Given the description of an element on the screen output the (x, y) to click on. 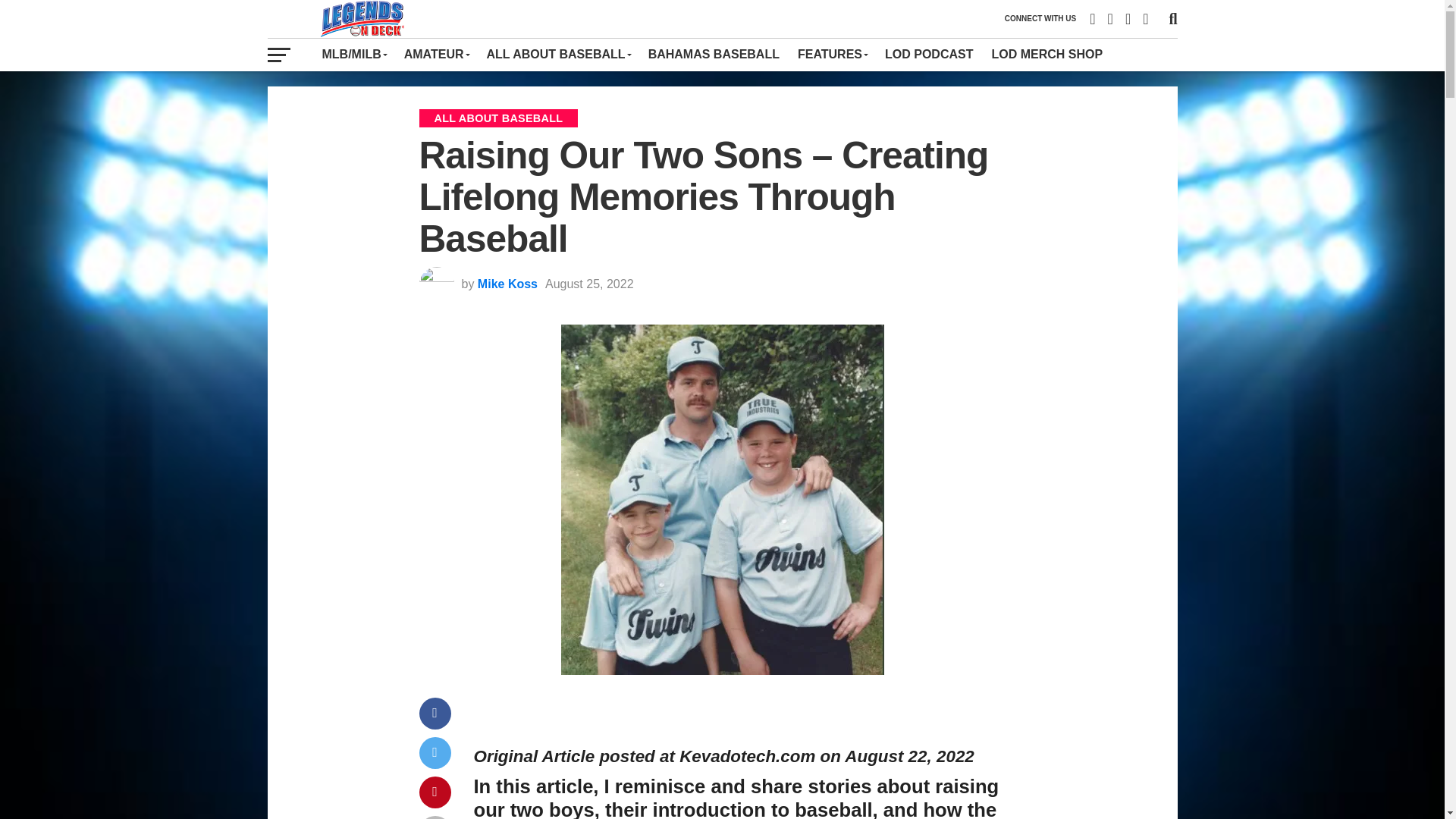
Posts by Mike Koss (507, 283)
